Given the description of an element on the screen output the (x, y) to click on. 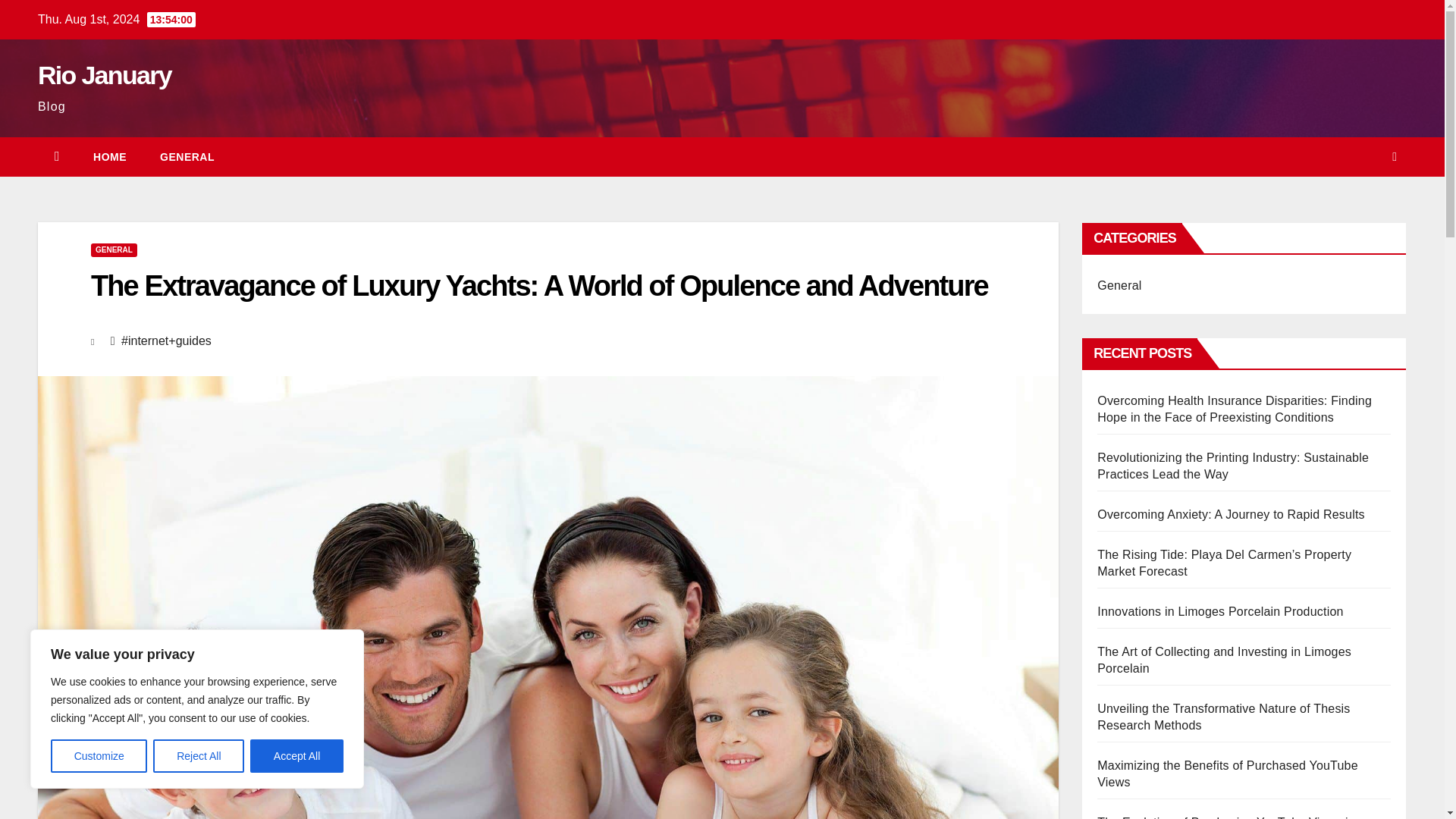
Home (109, 156)
Reject All (198, 756)
Customize (98, 756)
GENERAL (186, 156)
General (186, 156)
Rio January (104, 74)
Accept All (296, 756)
GENERAL (113, 250)
